Given the description of an element on the screen output the (x, y) to click on. 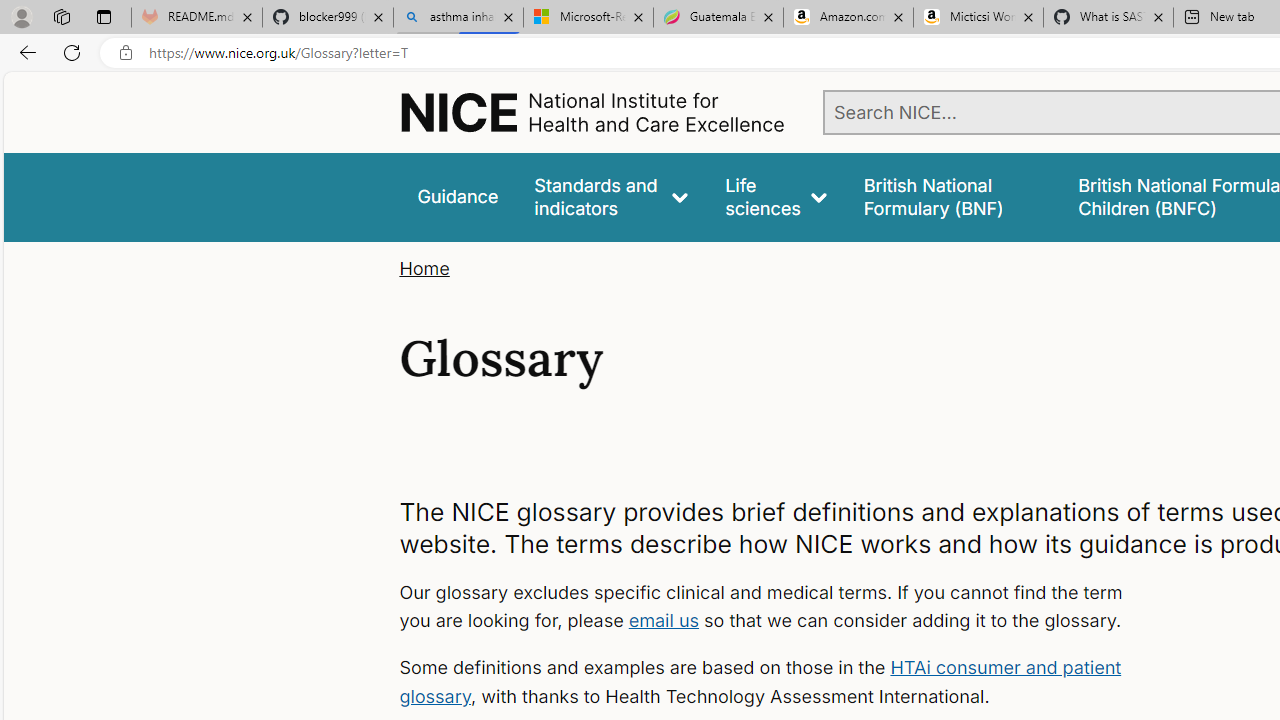
false (952, 196)
Guidance (458, 196)
asthma inhaler - Search (458, 17)
Life sciences (776, 196)
Guidance (458, 196)
